Given the description of an element on the screen output the (x, y) to click on. 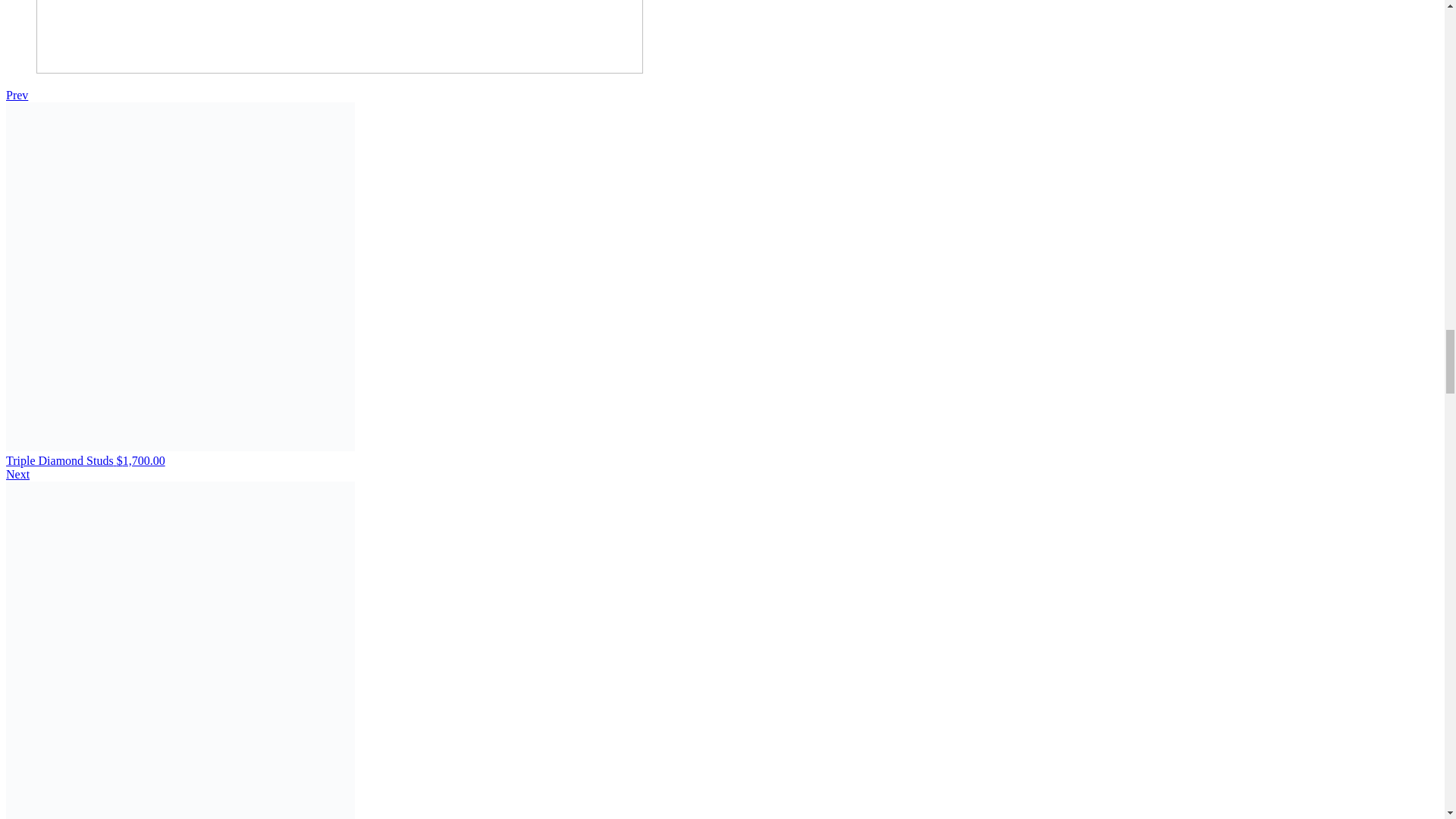
2040 (339, 36)
